Given the description of an element on the screen output the (x, y) to click on. 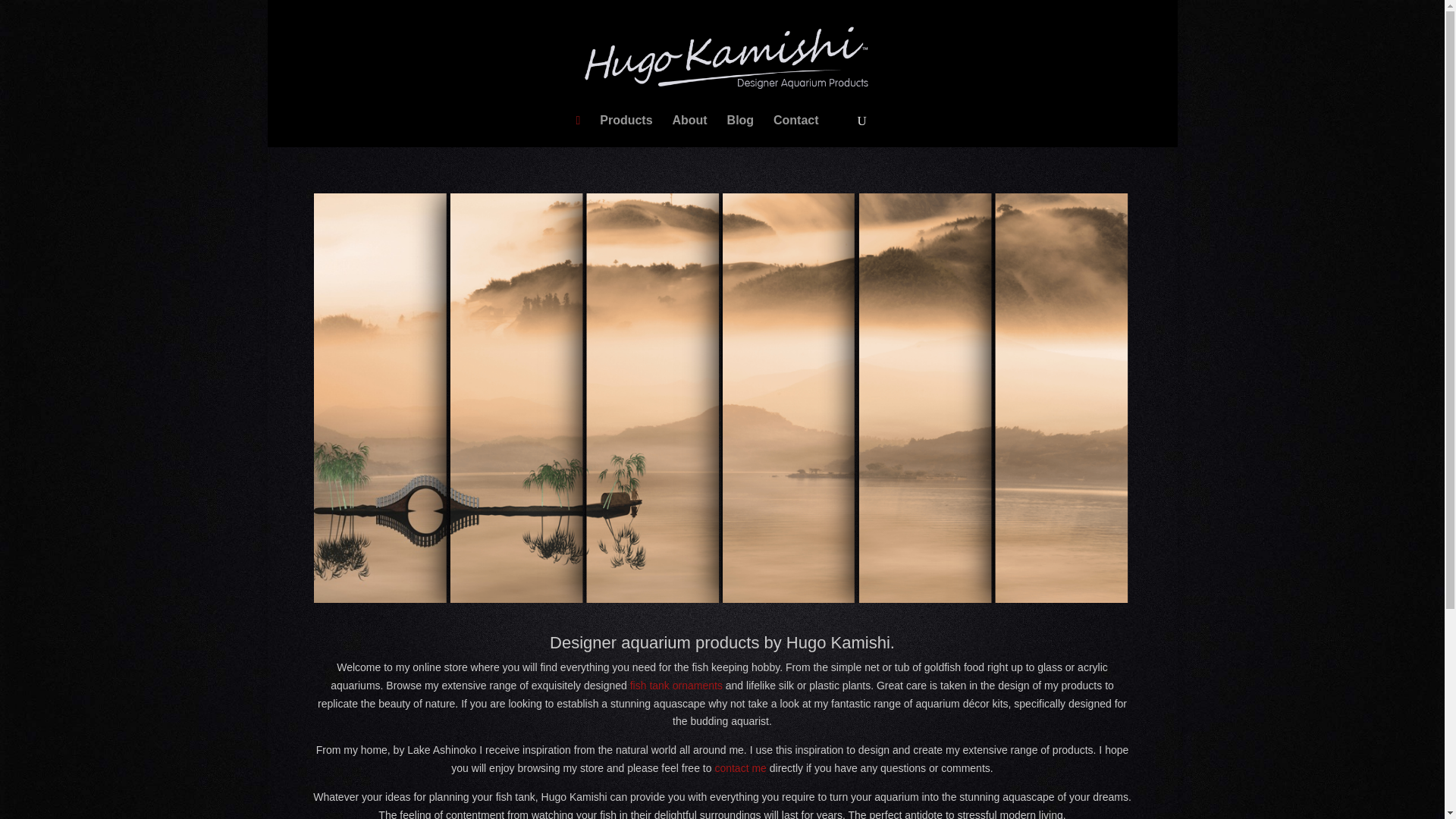
fish tank ornaments (676, 685)
Blog (740, 120)
About (688, 120)
Contact (795, 120)
contact me (739, 767)
Products (625, 120)
